Given the description of an element on the screen output the (x, y) to click on. 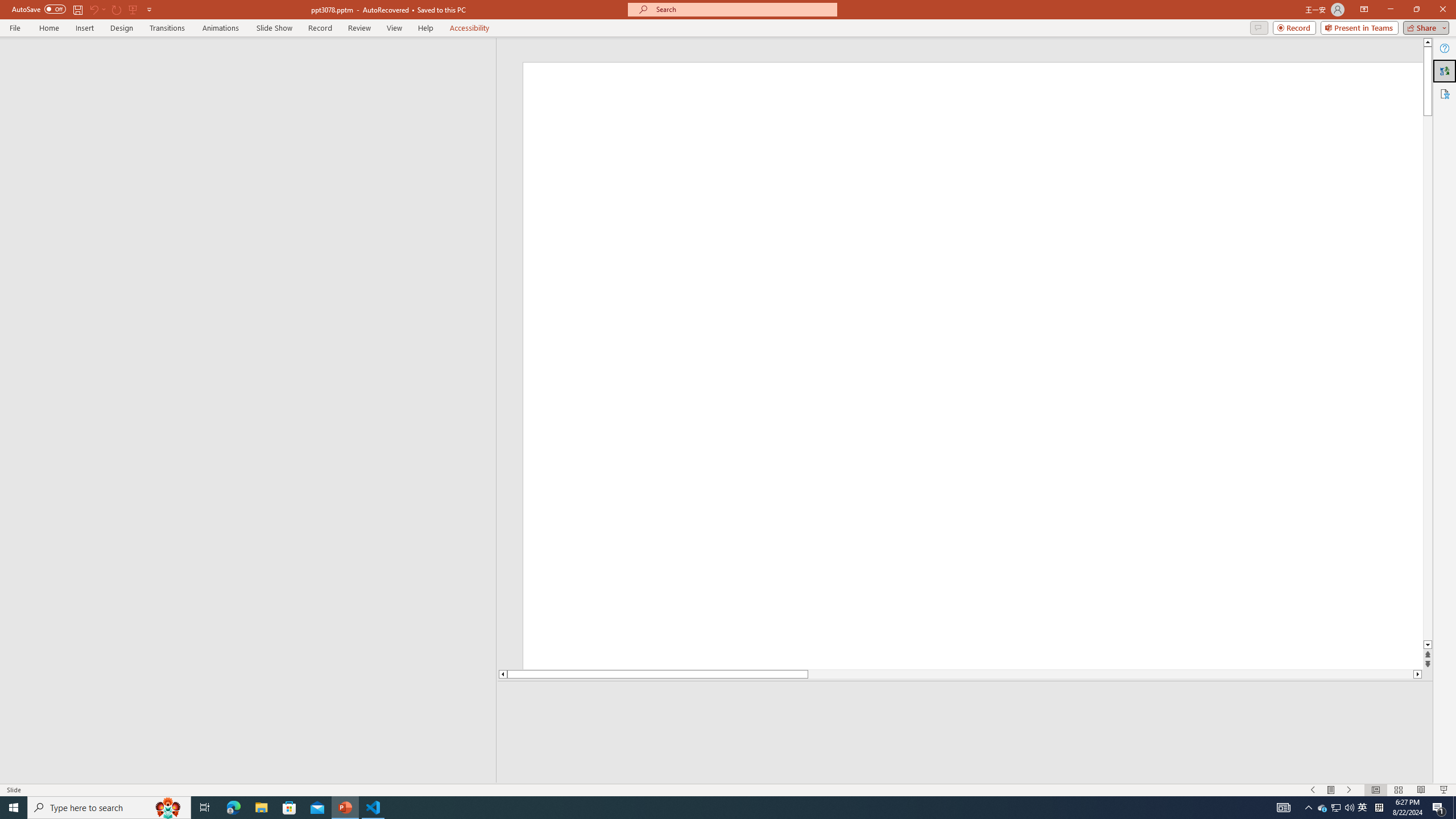
Outline (252, 60)
